Given the description of an element on the screen output the (x, y) to click on. 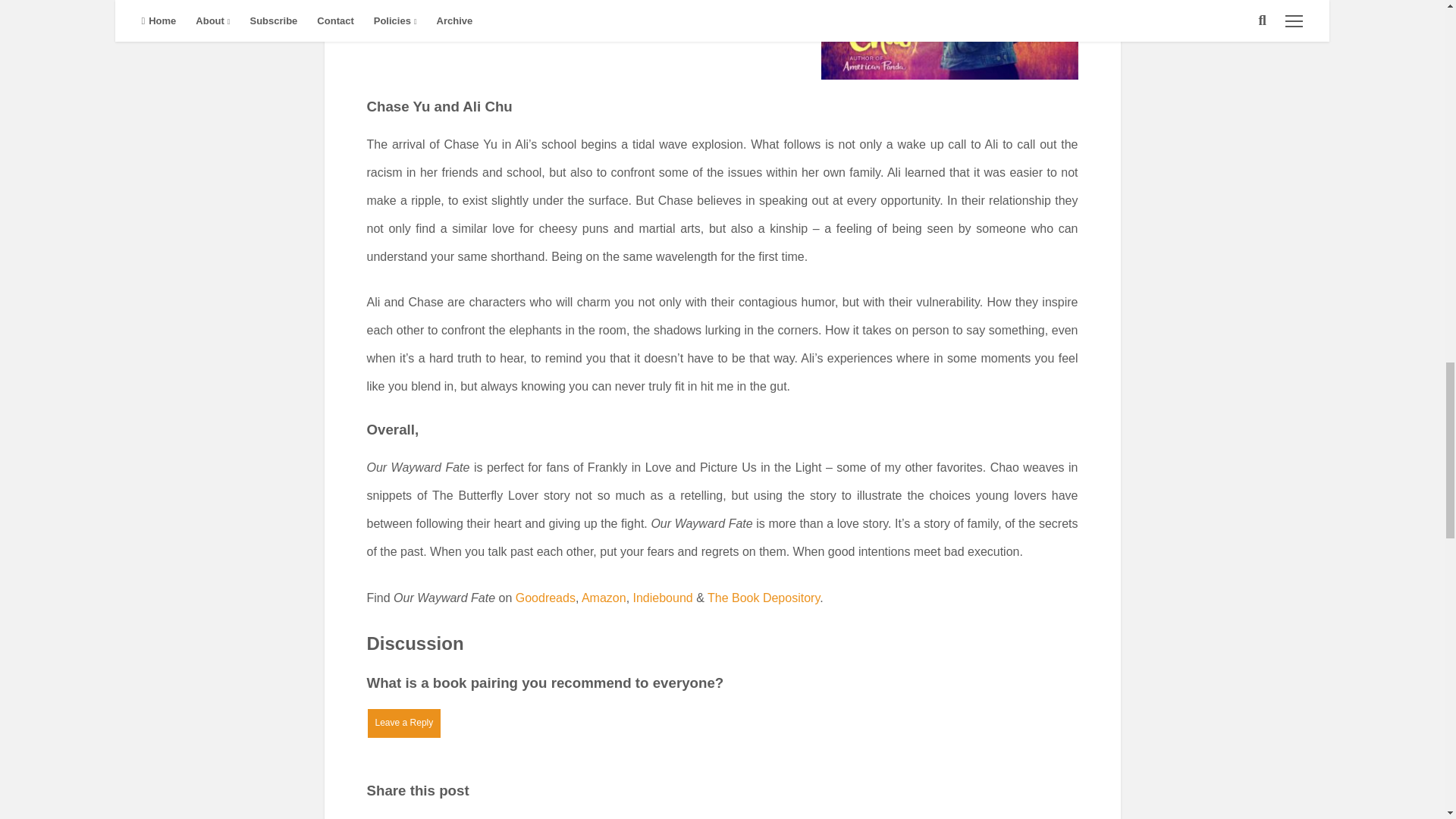
Leave a Reply (404, 723)
Goodreads (545, 597)
Amazon (602, 597)
The Book Depository (763, 597)
Indiebound (665, 597)
